Given the description of an element on the screen output the (x, y) to click on. 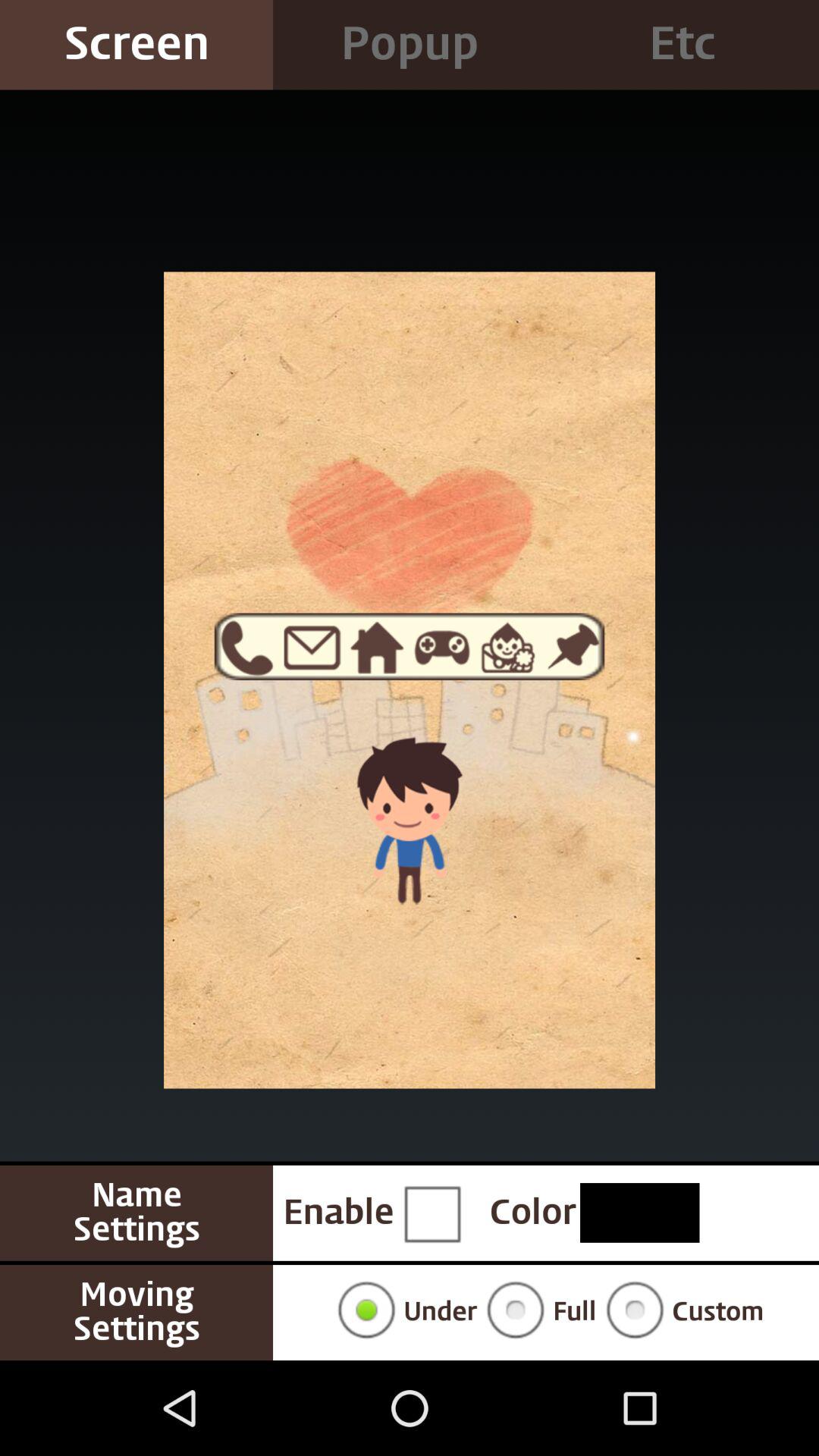
choose a color (639, 1212)
